Given the description of an element on the screen output the (x, y) to click on. 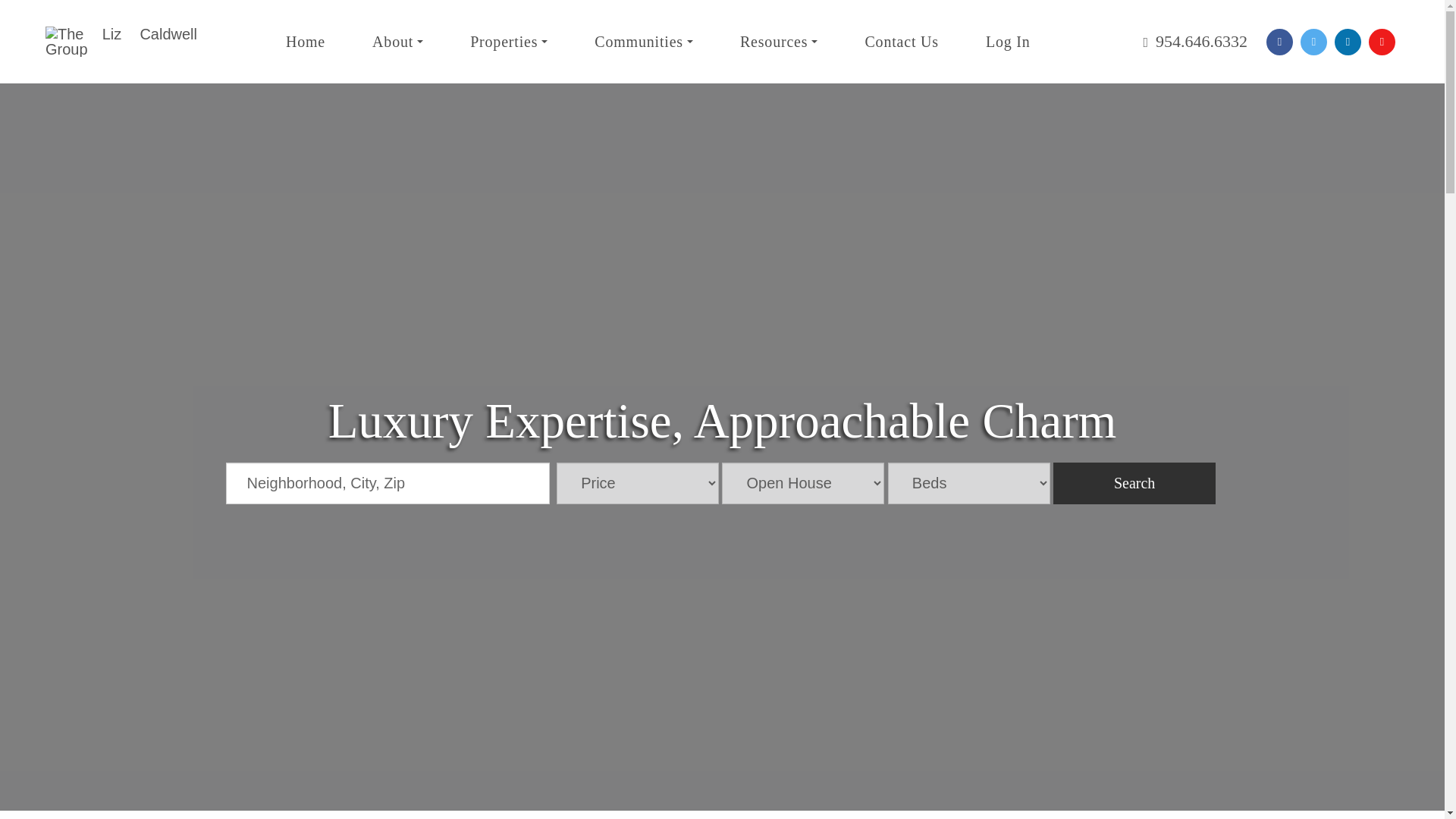
Search (1133, 483)
